Given the description of an element on the screen output the (x, y) to click on. 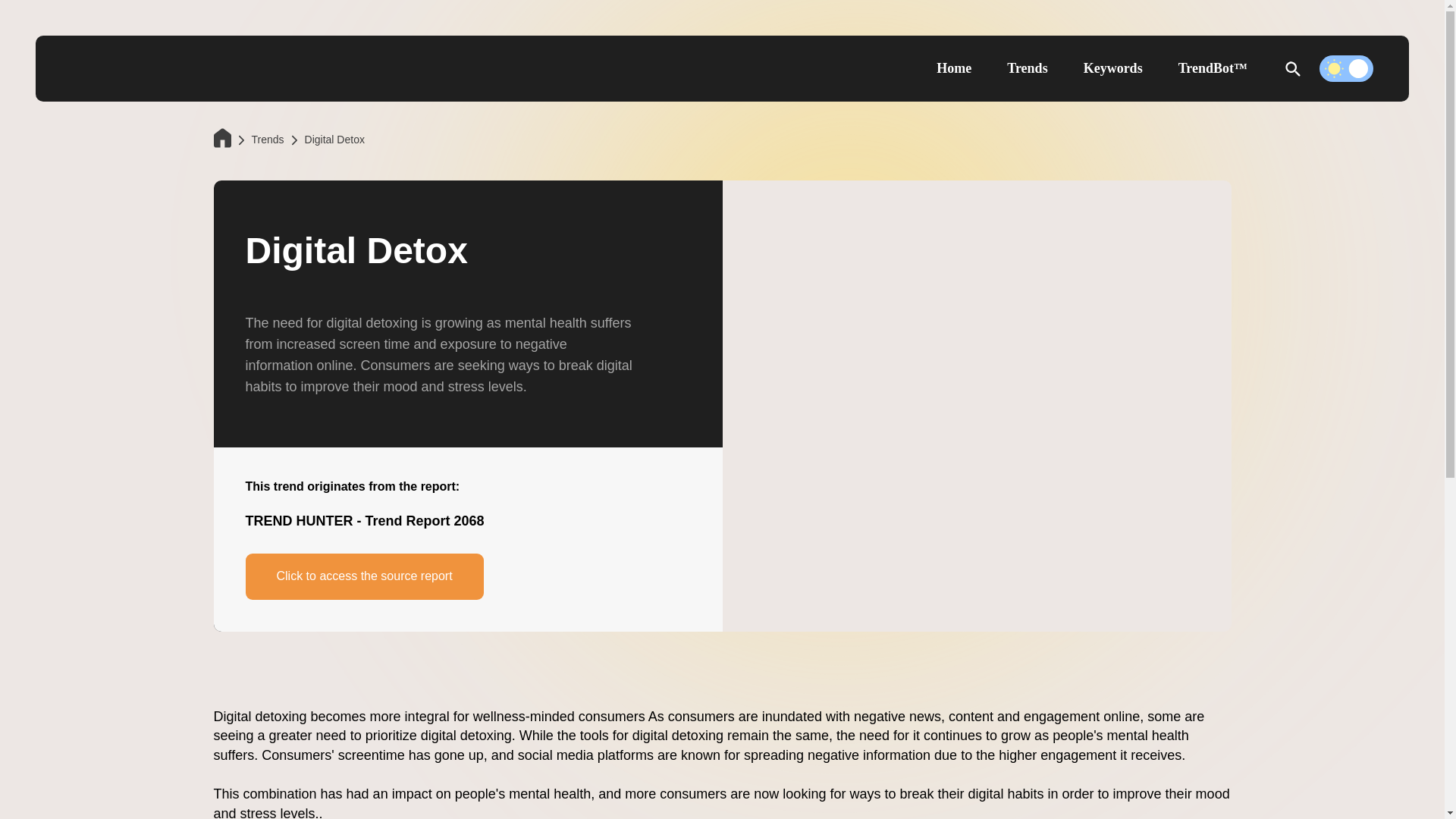
Trends (1026, 69)
Keywords (1112, 69)
Trends (267, 140)
on (1346, 68)
Home (953, 69)
Click to access the source report (364, 576)
